Given the description of an element on the screen output the (x, y) to click on. 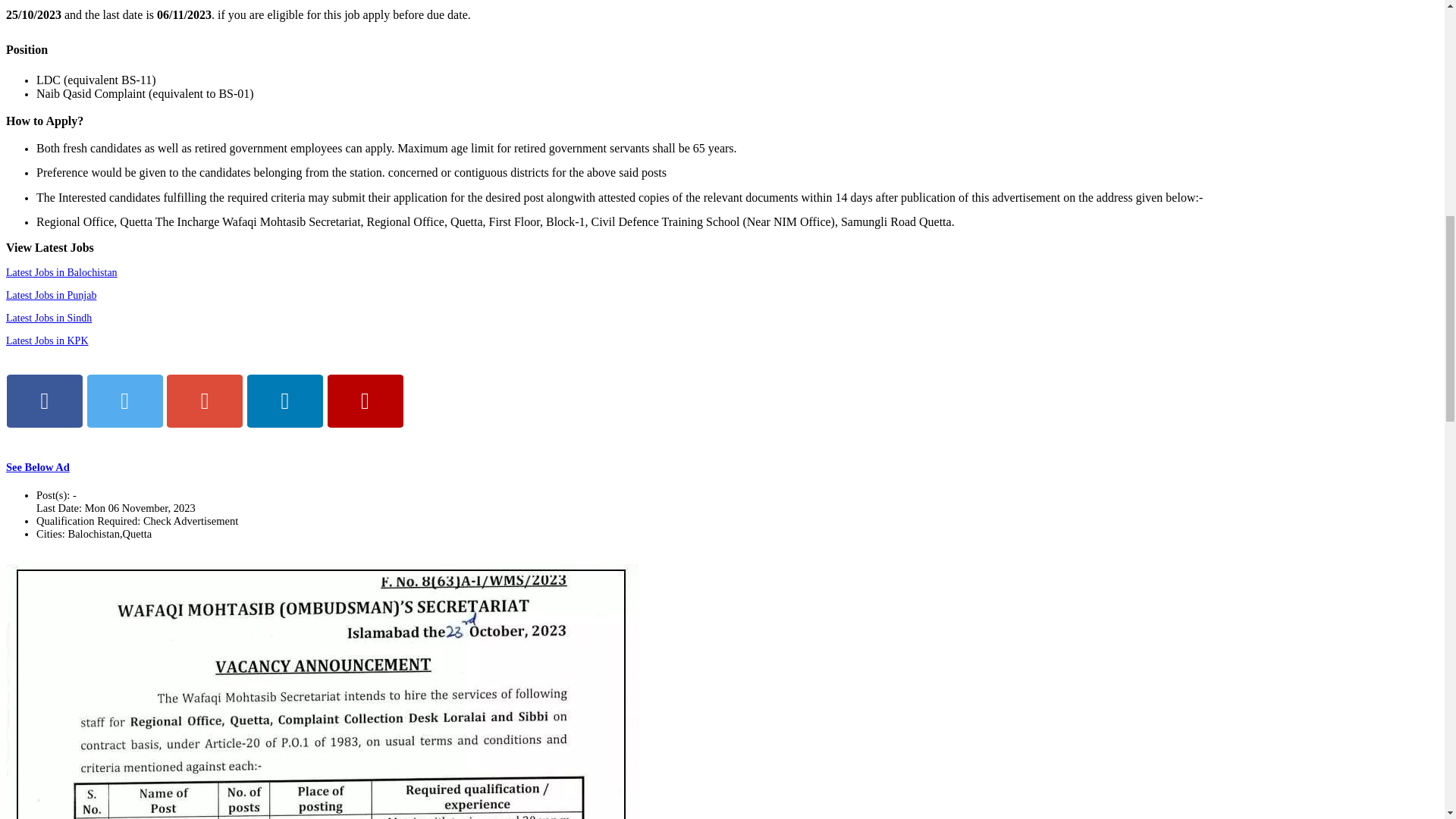
Latest Jobs in KPK (46, 340)
Latest Jobs in Balochistan (61, 272)
See Below Ad (37, 467)
Latest Jobs in Sindh (48, 317)
Latest Jobs in Punjab (50, 295)
